Given the description of an element on the screen output the (x, y) to click on. 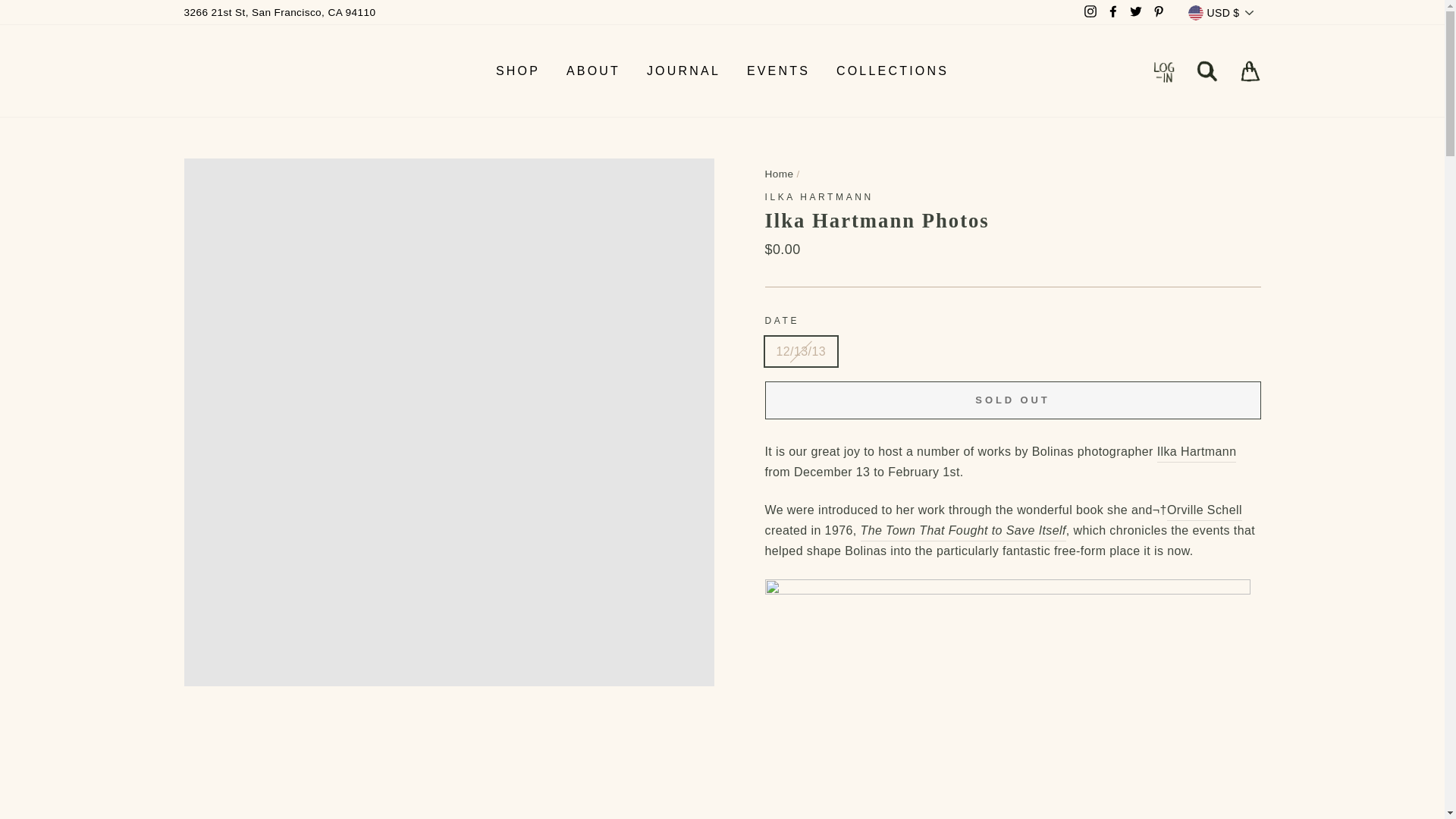
Leah with the Scythe, Ilka Hartmann (1006, 699)
Back to the frontpage (778, 173)
Ilka Hartmann (818, 196)
